Given the description of an element on the screen output the (x, y) to click on. 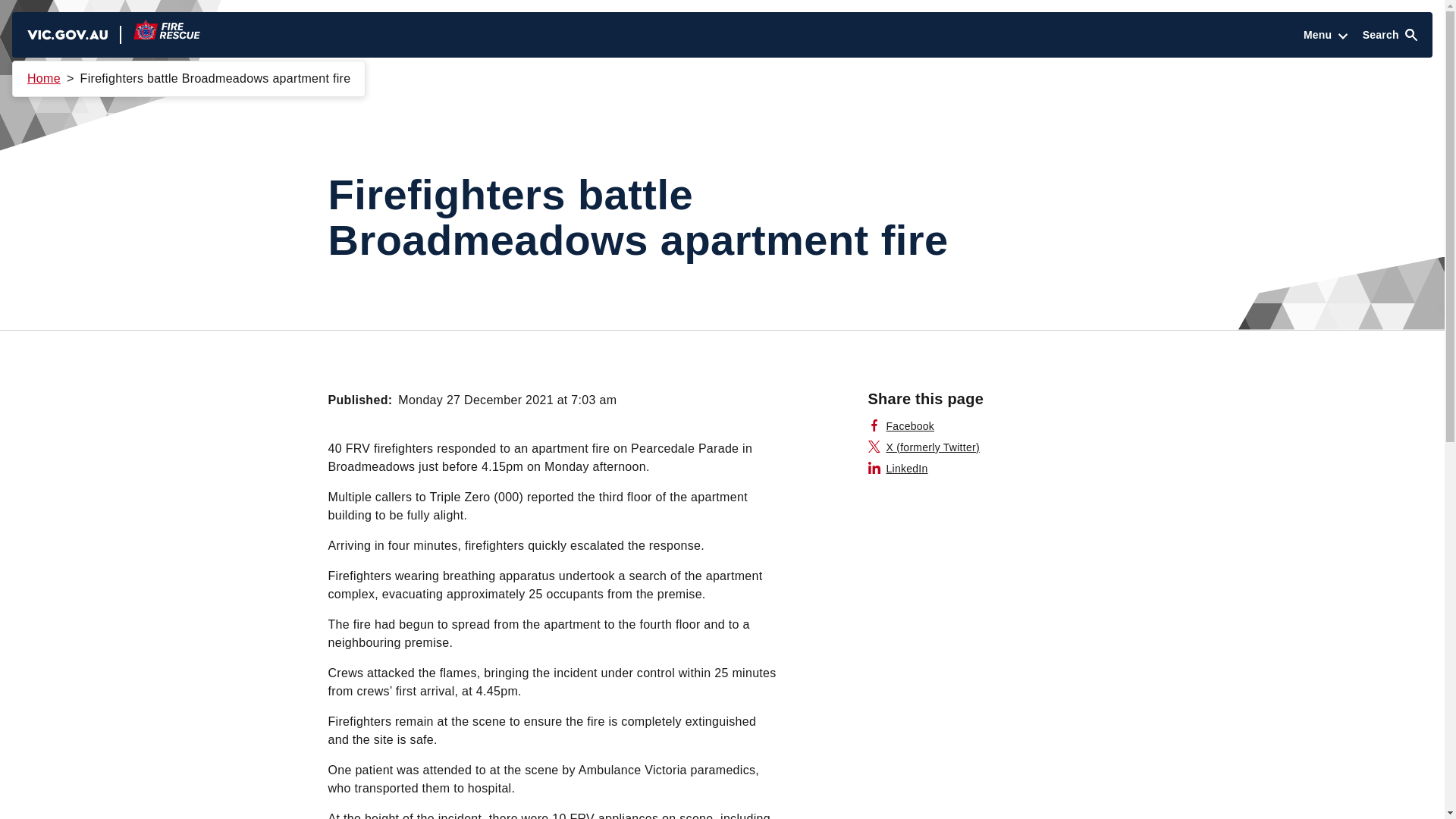
Facebook (900, 426)
Home (44, 78)
LinkedIn (897, 468)
